Given the description of an element on the screen output the (x, y) to click on. 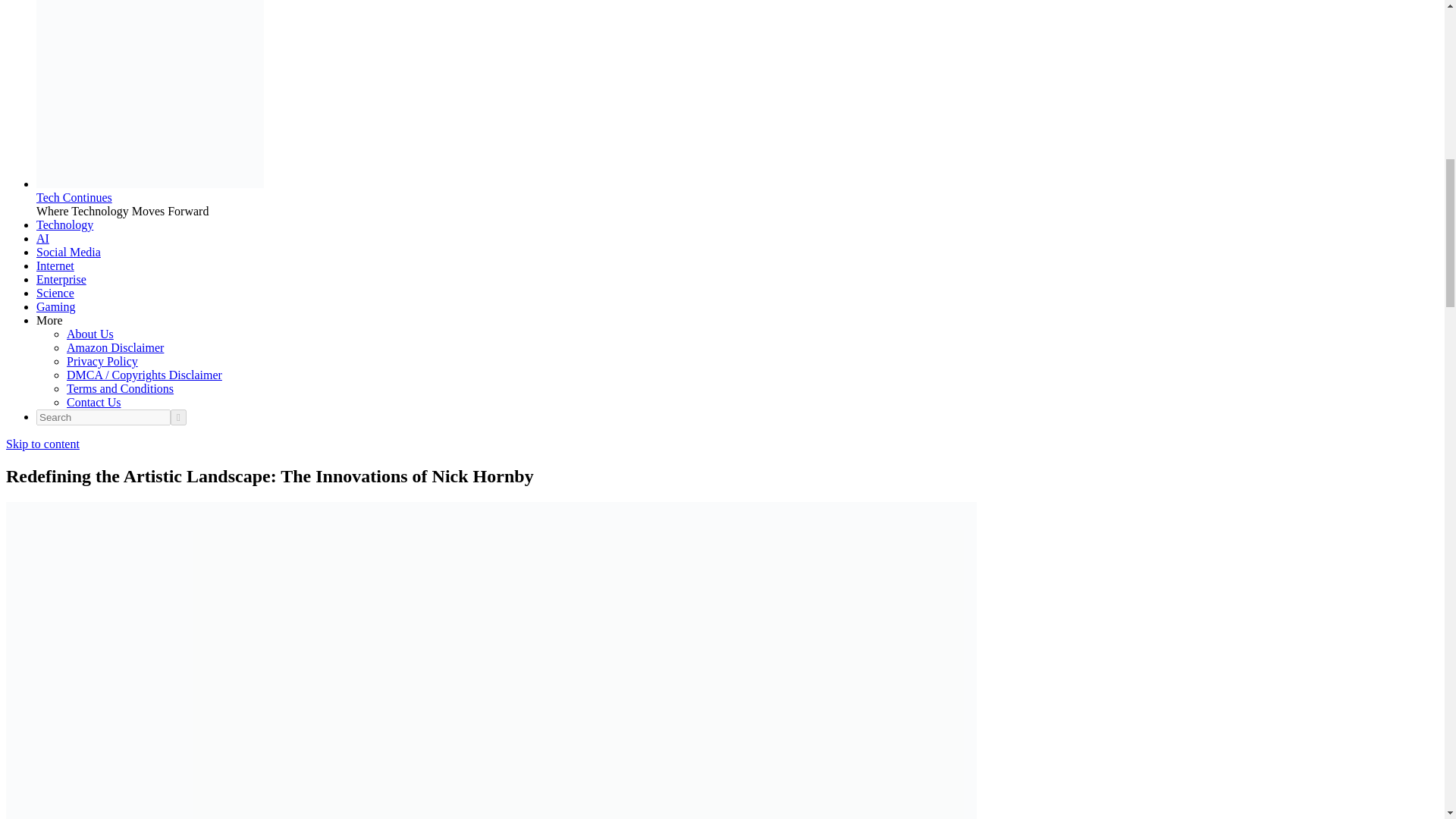
Social Media (68, 251)
Technology (64, 224)
Tech Continues (74, 196)
Amazon Disclaimer (114, 347)
Science (55, 292)
Internet (55, 265)
Privacy Policy (102, 360)
Skip to content (42, 443)
AI (42, 237)
Contact Us (93, 401)
